Given the description of an element on the screen output the (x, y) to click on. 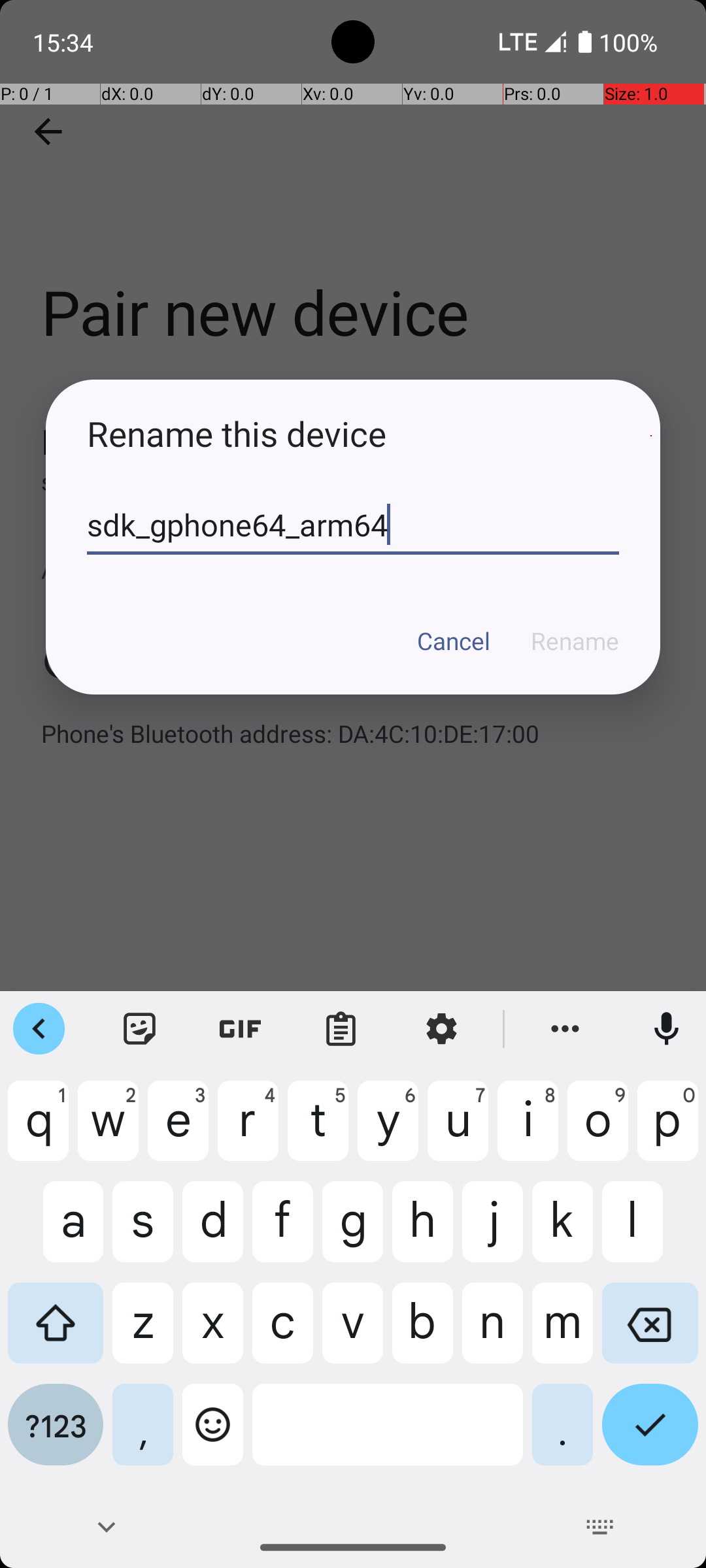
Rename this device Element type: android.widget.TextView (352, 433)
Rename Element type: android.widget.Button (574, 640)
